Given the description of an element on the screen output the (x, y) to click on. 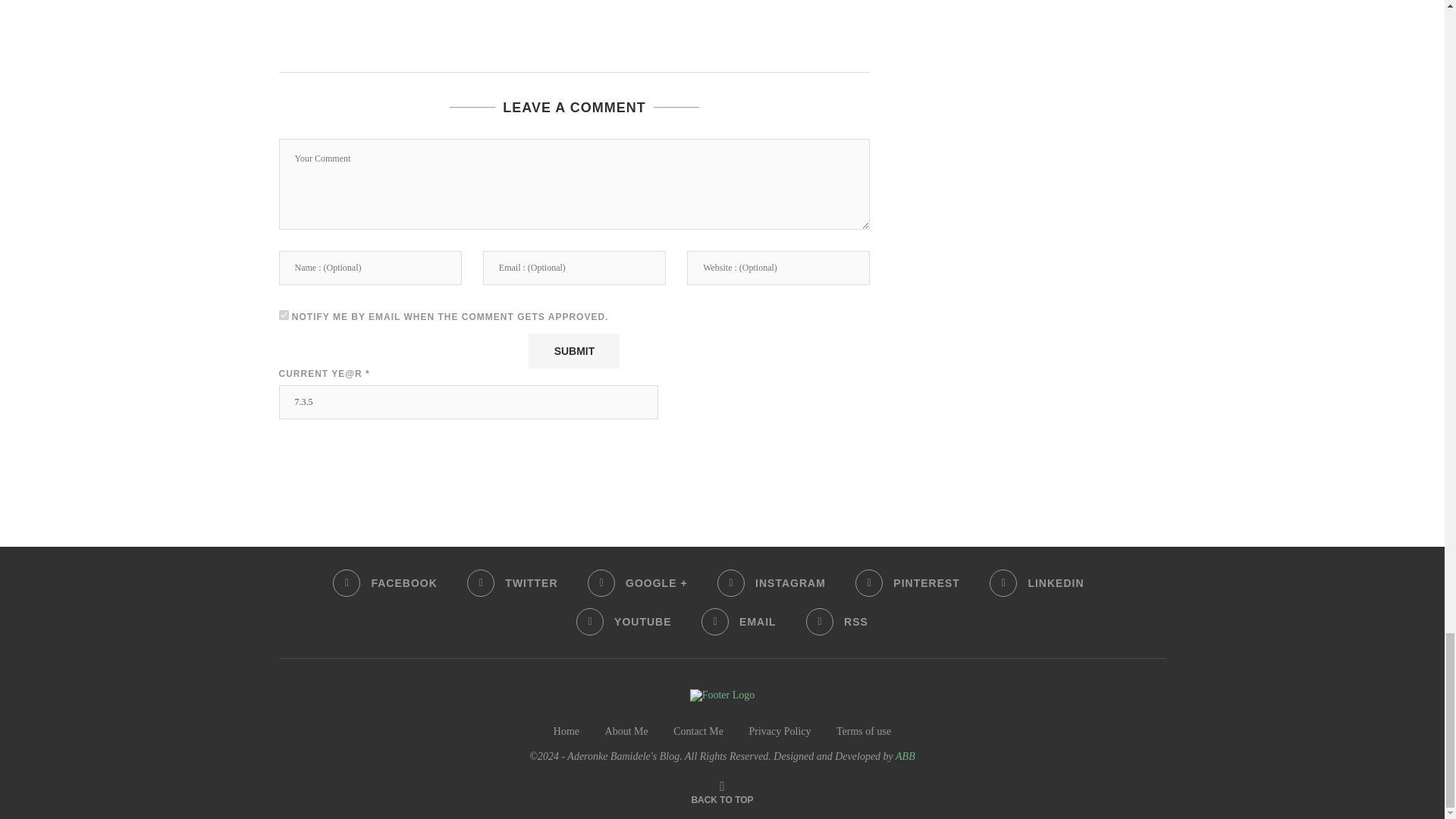
1 (283, 315)
7.3.5 (468, 401)
Submit (574, 350)
